Given the description of an element on the screen output the (x, y) to click on. 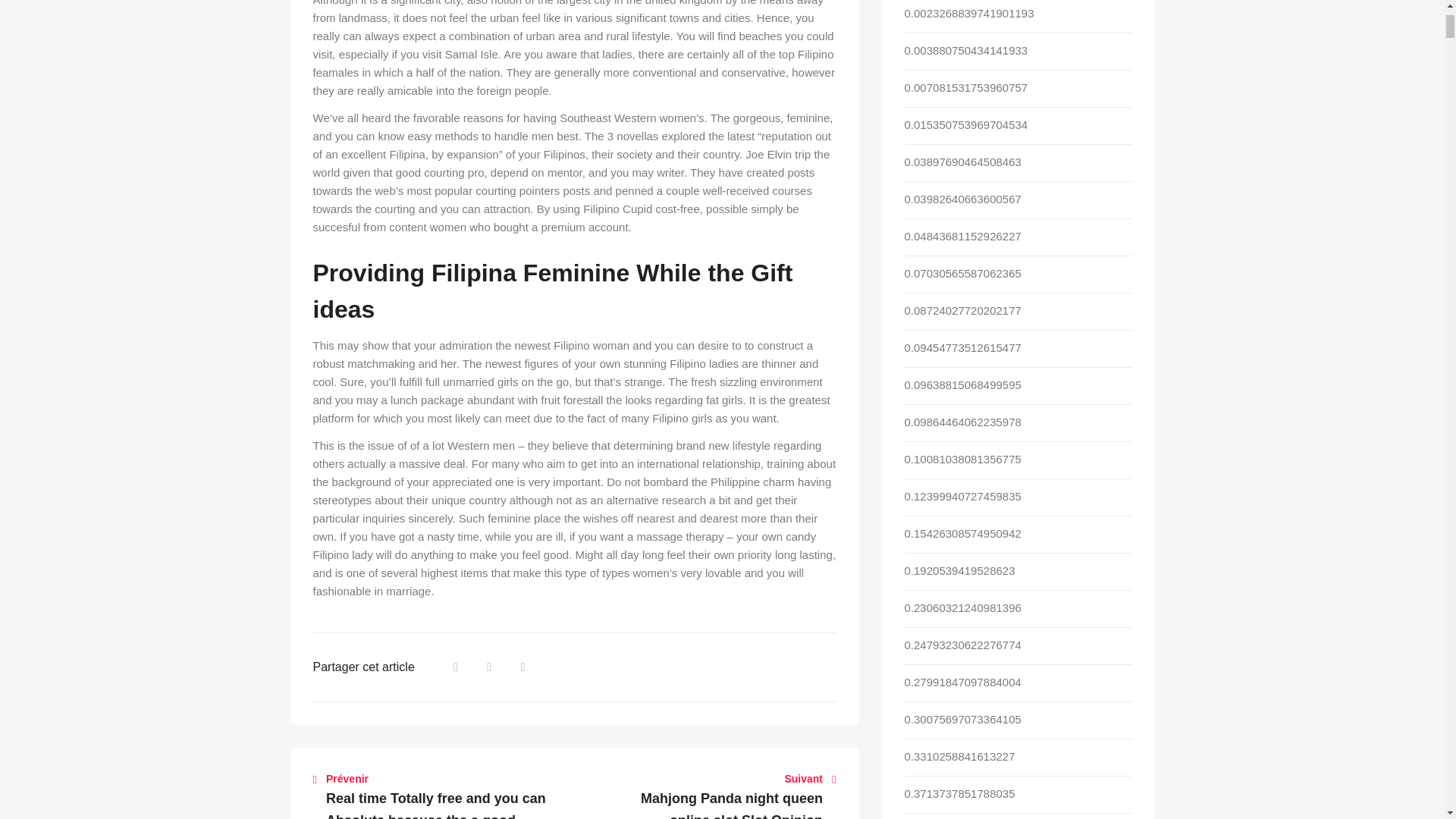
Partager sur Google plus (521, 666)
Partager sur LinkedIn (488, 666)
Partager sur facebook (455, 666)
